Given the description of an element on the screen output the (x, y) to click on. 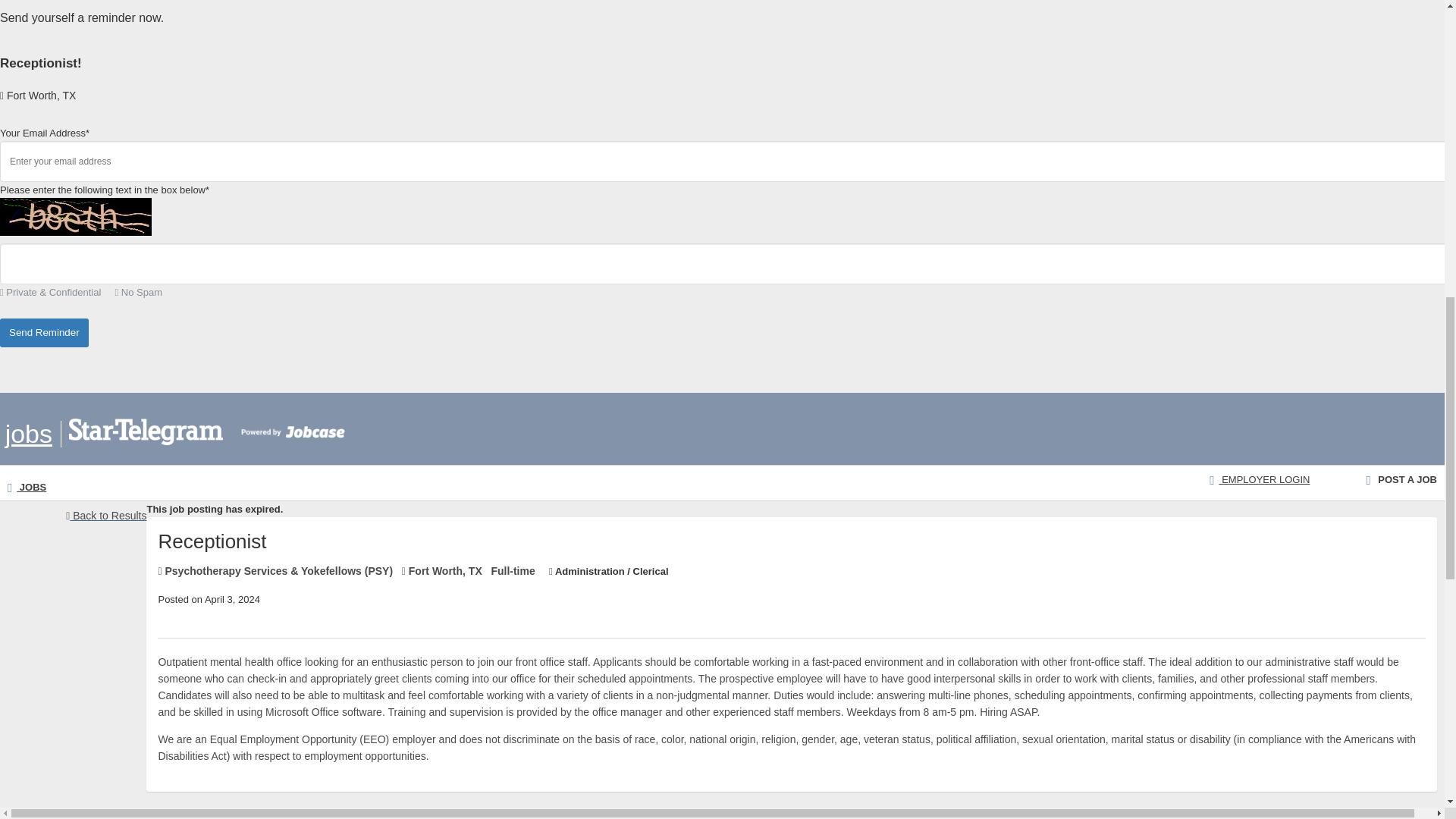
EMPLOYER LOGIN (1259, 479)
Send Reminder (44, 333)
captcha (75, 216)
Back to Results (106, 515)
jobs (28, 433)
POST A JOB (1401, 479)
JOBS (26, 486)
